Given the description of an element on the screen output the (x, y) to click on. 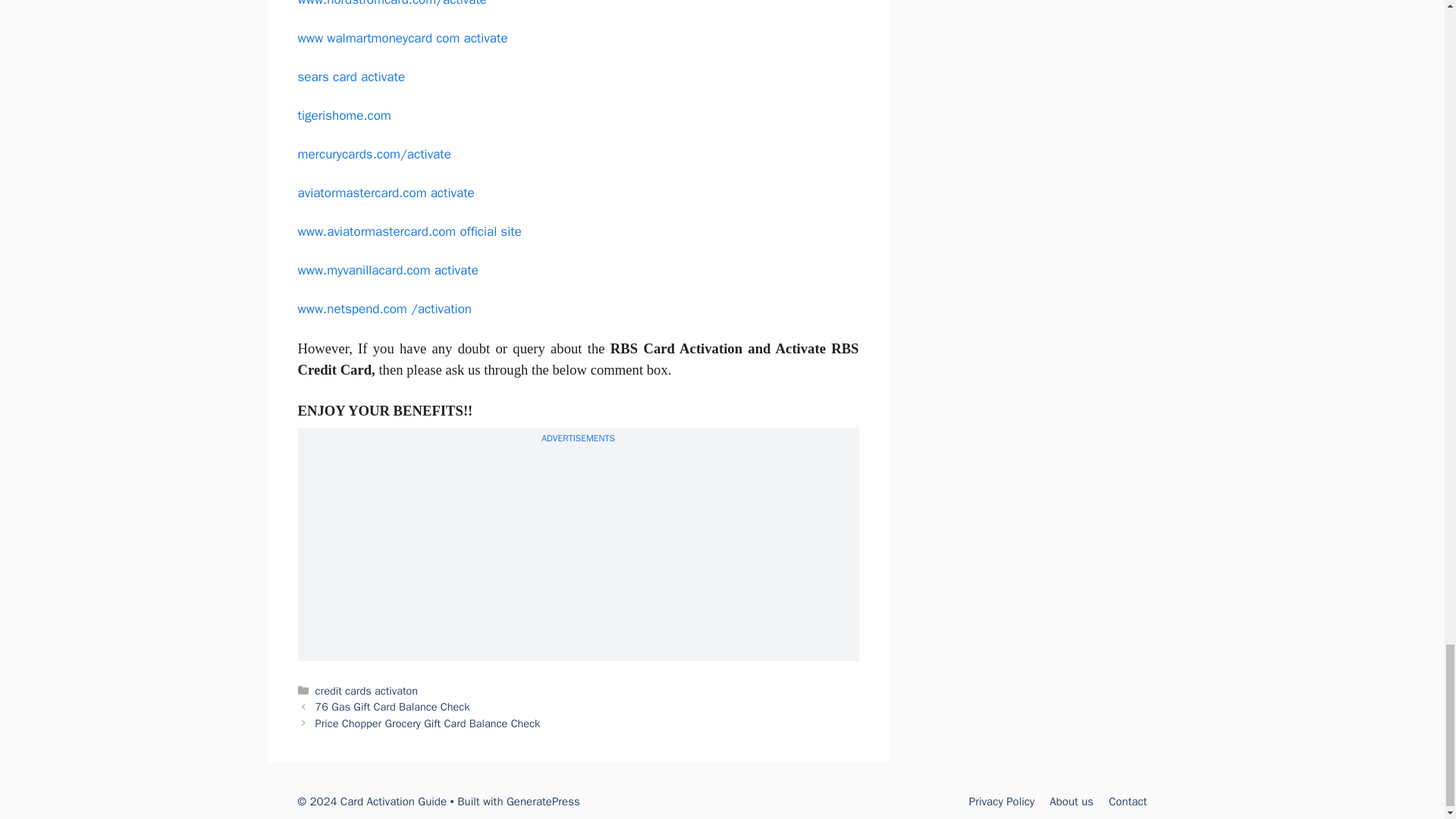
www.aviatormastercard.com official site (409, 231)
credit cards activaton (367, 690)
tigerishome.com (343, 115)
www walmartmoneycard com activate (401, 37)
aviatormastercard.com activate (385, 192)
76 Gas Gift Card Balance Check (392, 706)
sears card activate (350, 76)
ADVERTISEMENTS (577, 438)
Price Chopper Grocery Gift Card Balance Check (427, 723)
www.myvanillacard.com activate (387, 270)
